Given the description of an element on the screen output the (x, y) to click on. 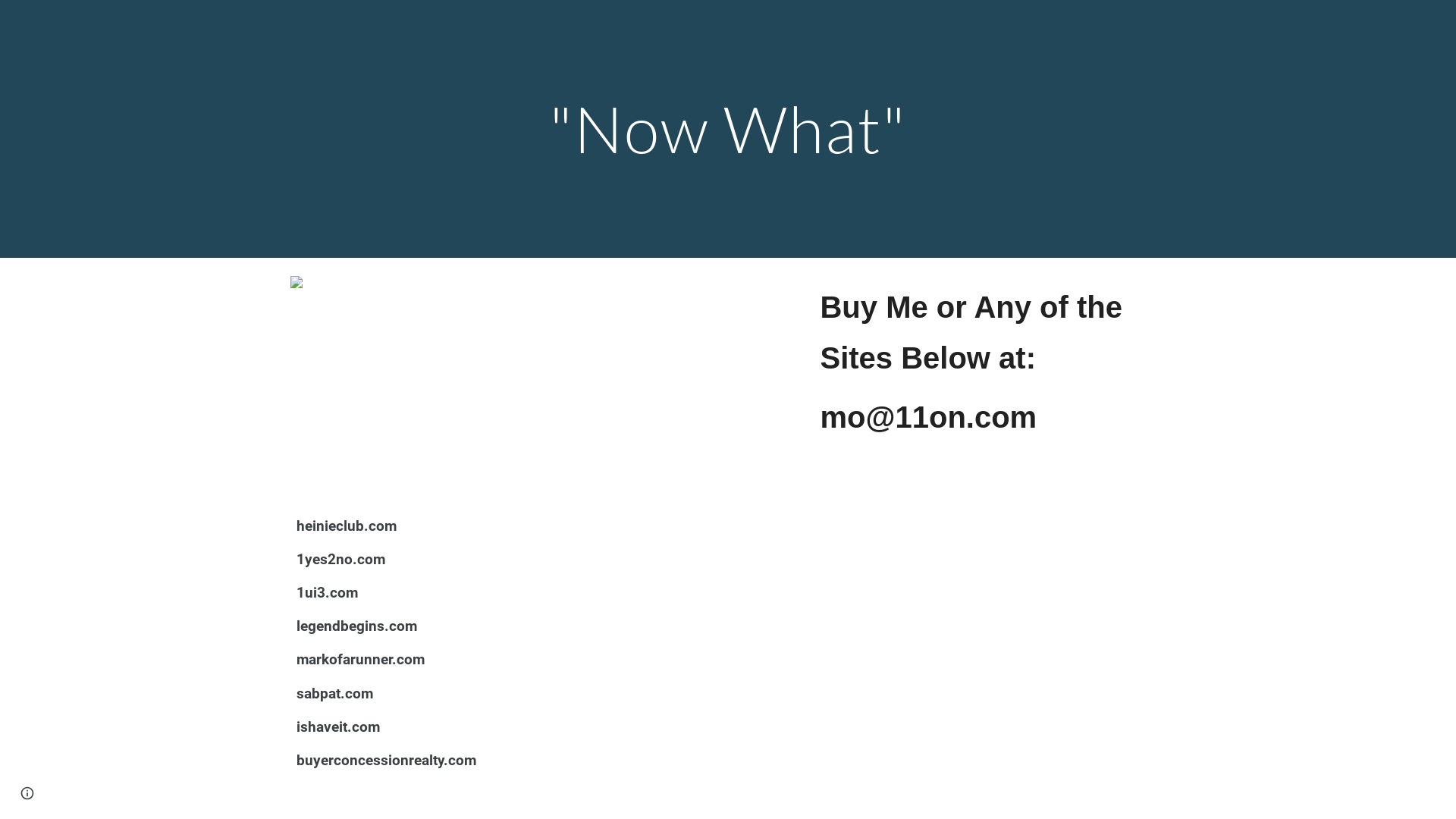
heinieclub.com Element type: text (346, 526)
ishaveit.com Element type: text (337, 727)
legendbegins.com Element type: text (356, 626)
1ui3.com Element type: text (326, 592)
buyerconcessionrealty.com Element type: text (386, 760)
1yes2no.com Element type: text (340, 559)
markofarunner.com Element type: text (360, 659)
sabpat.com Element type: text (334, 693)
